Given the description of an element on the screen output the (x, y) to click on. 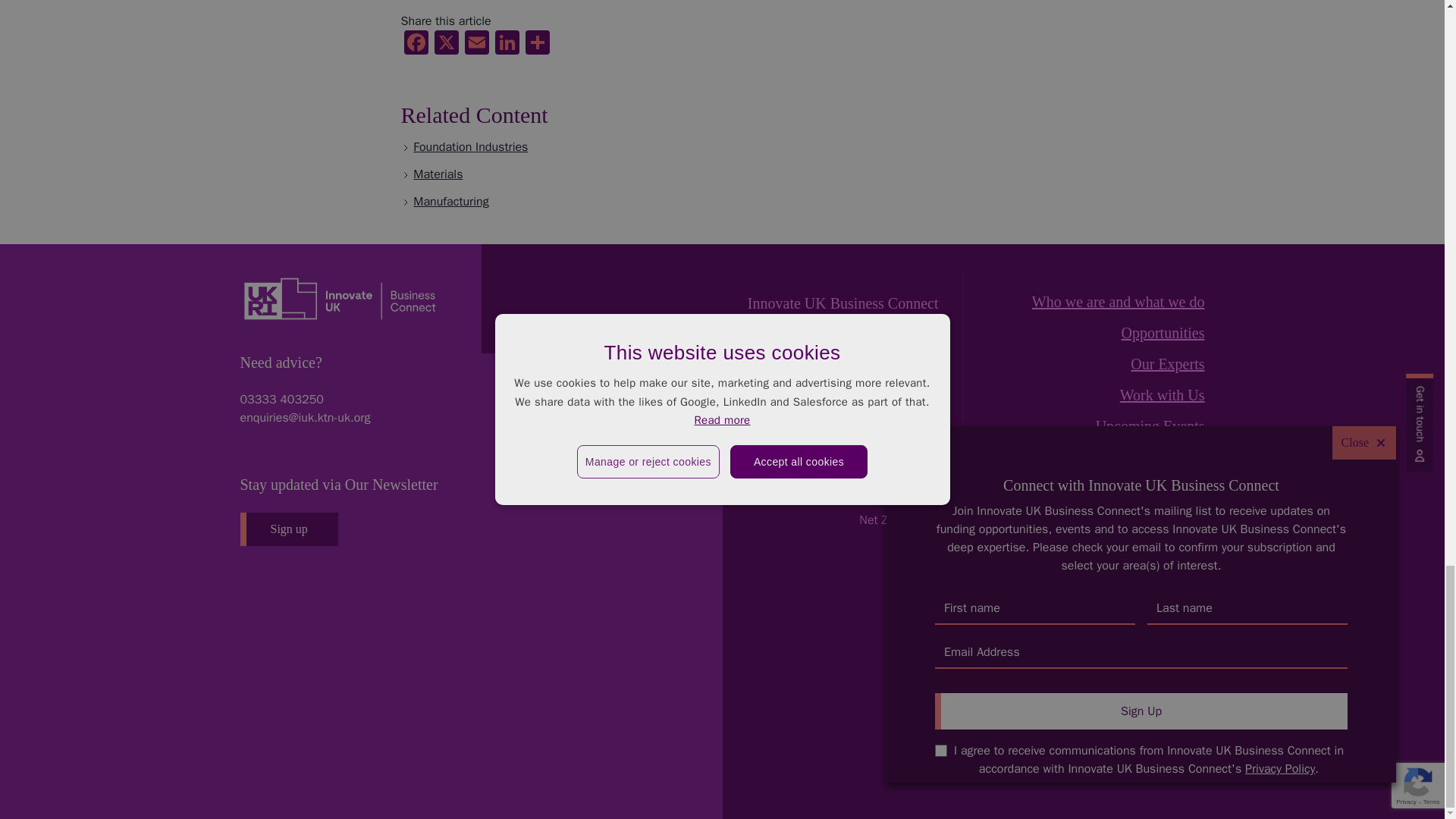
Facebook (415, 44)
X (445, 44)
Email (476, 44)
LinkedIn (506, 44)
